Given the description of an element on the screen output the (x, y) to click on. 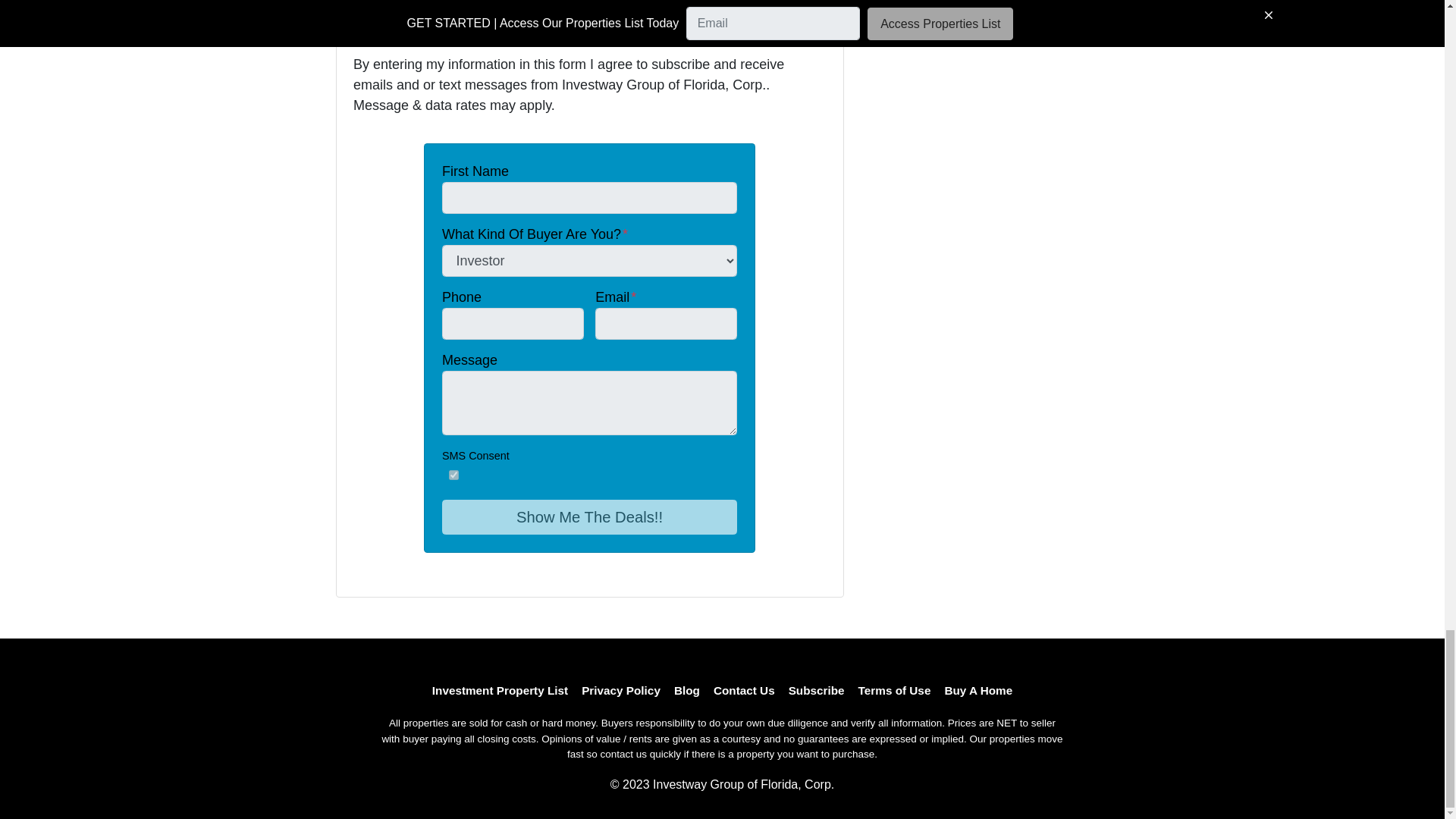
Show Me The Deals!! (589, 516)
Investment Property List (500, 690)
Terms of Use (894, 690)
Contact Us (743, 690)
Buy A Home (978, 690)
Blog (686, 690)
Show Me The Deals!! (589, 516)
Subscribe (816, 690)
Privacy Policy (620, 690)
